Given the description of an element on the screen output the (x, y) to click on. 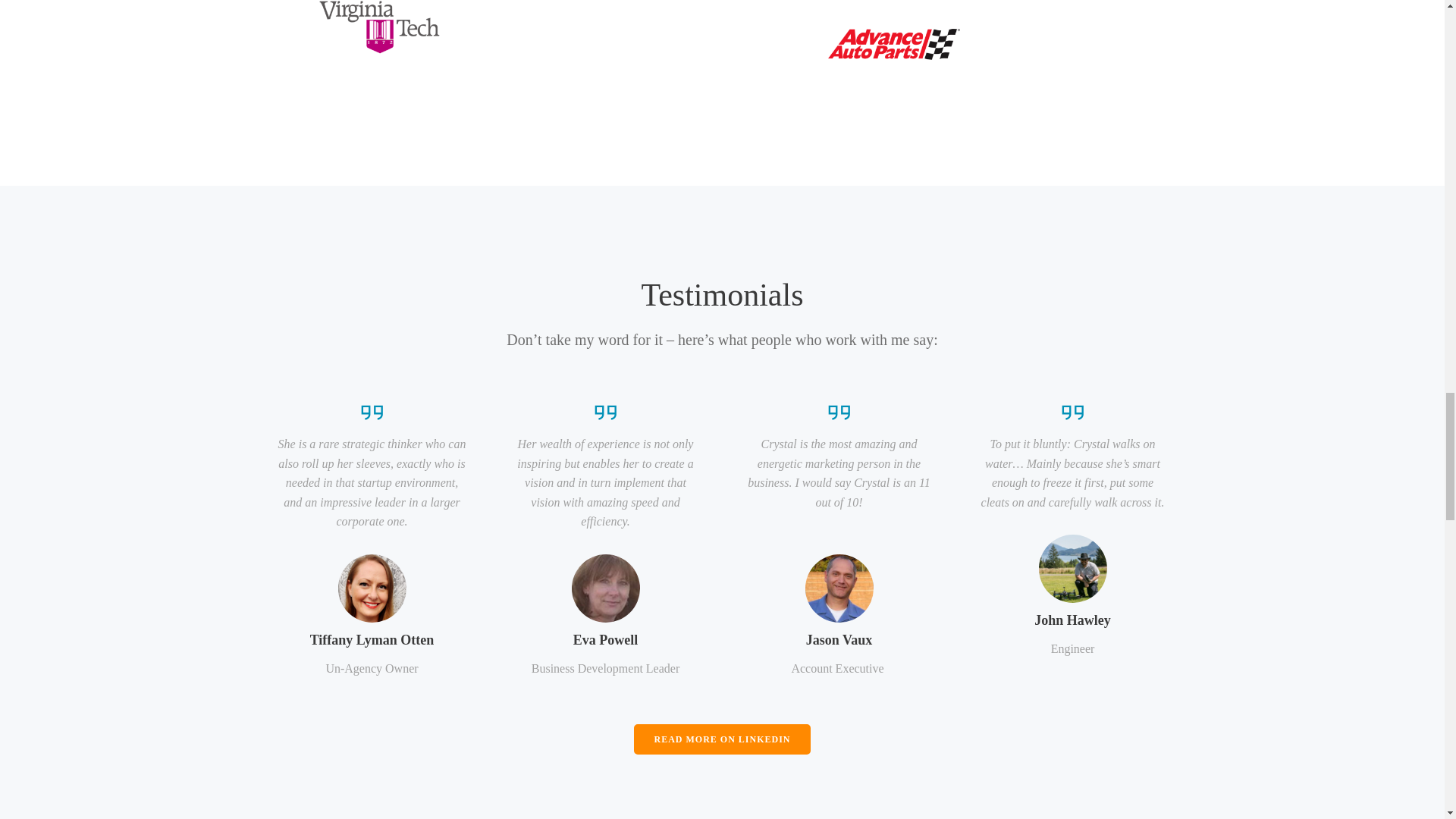
READ MORE ON LINKEDIN (721, 738)
